Given the description of an element on the screen output the (x, y) to click on. 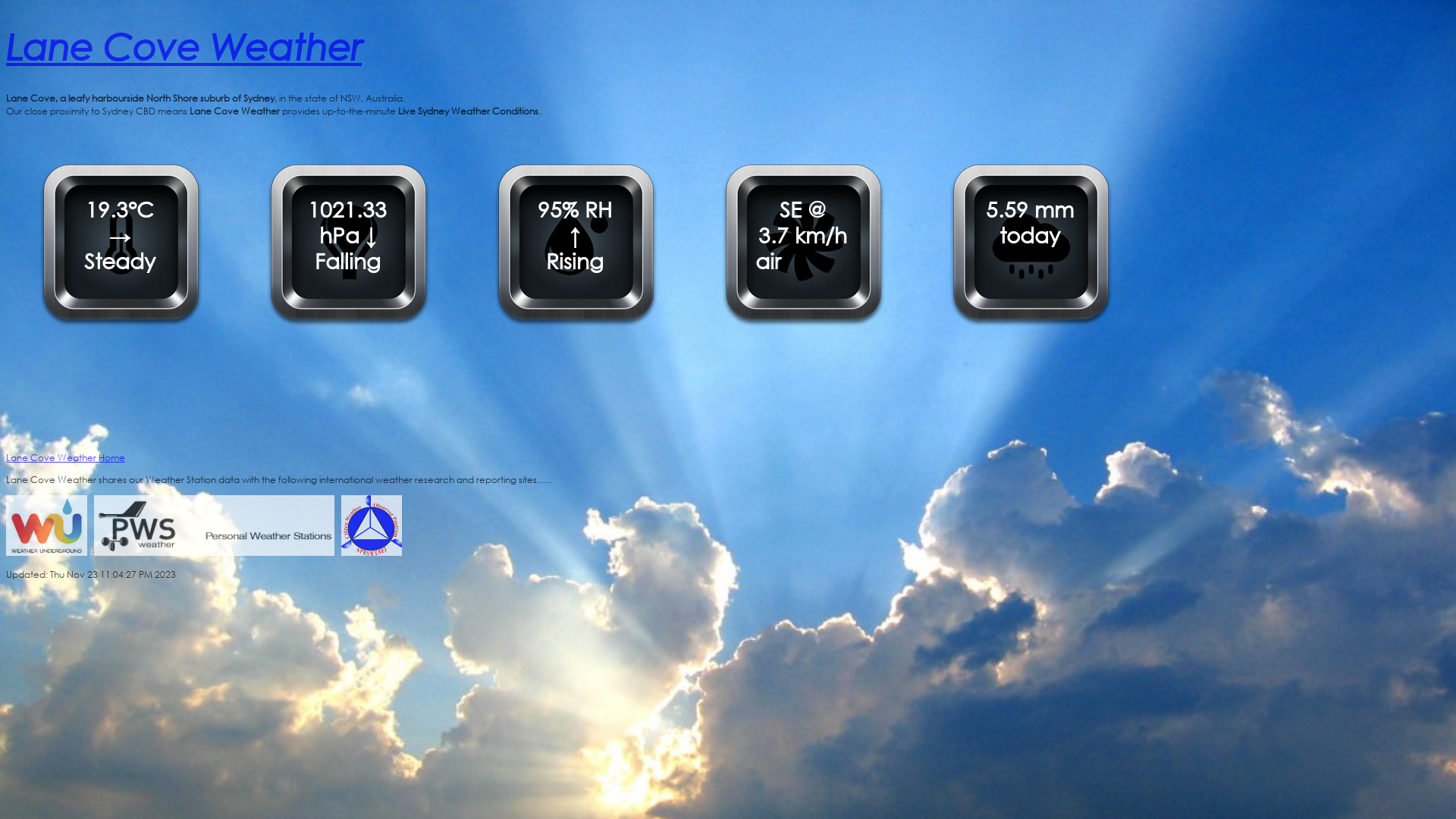
Lane Cove Weather Station on Weather Underground Element type: hover (46, 552)
Lane Cove Weather Element type: text (727, 45)
Lane Cove Weather Home Element type: text (65, 457)
Lane Cove Weather Station on PWS Weather Element type: hover (214, 552)
Lane Cove Weather Station on CWOP Findu Element type: hover (371, 552)
